Given the description of an element on the screen output the (x, y) to click on. 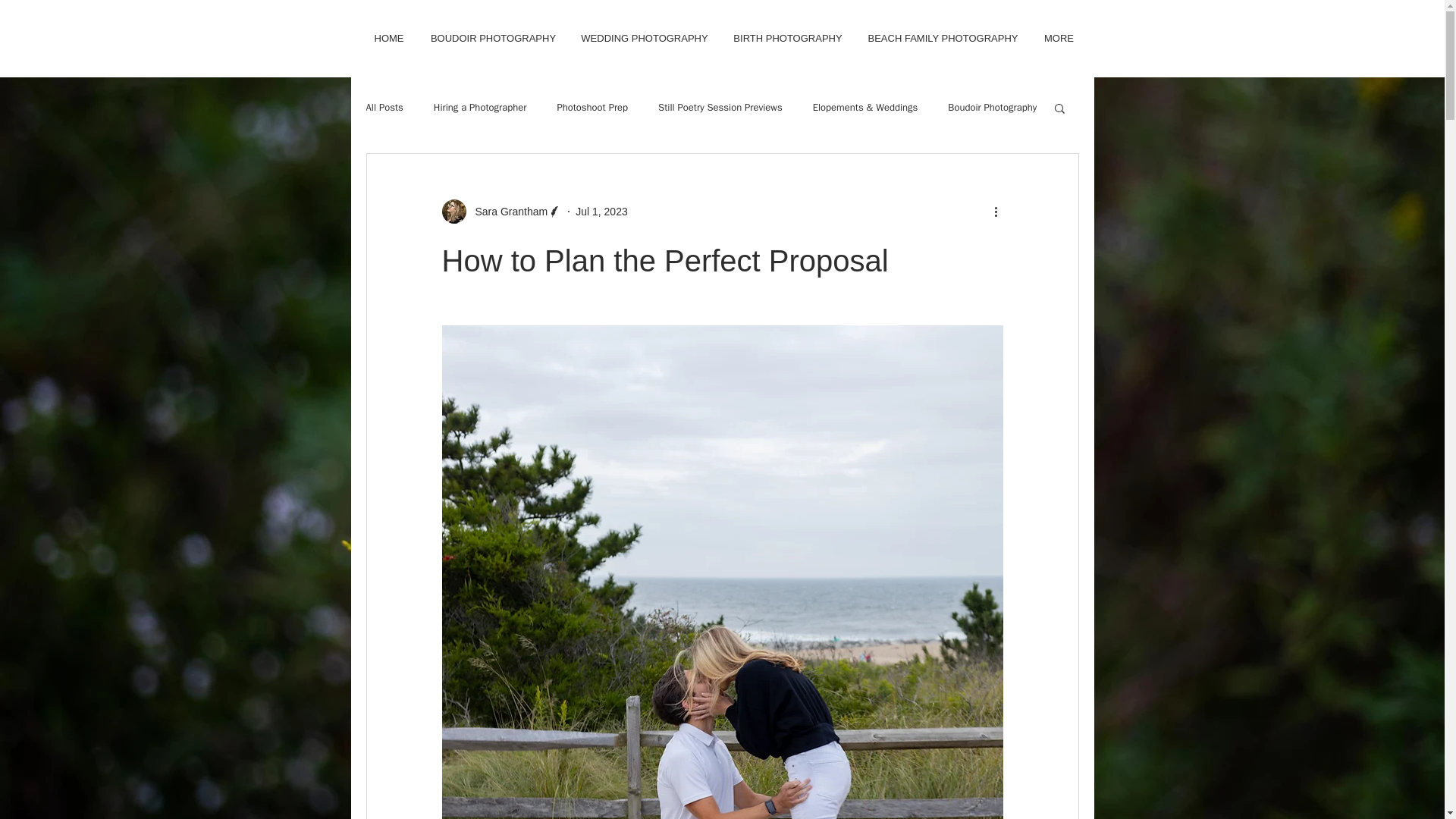
Boudoir Photography (991, 107)
BIRTH PHOTOGRAPHY (788, 38)
Photoshoot Prep (591, 107)
Sara Grantham (501, 211)
Hiring a Photographer (480, 107)
WEDDING PHOTOGRAPHY (644, 38)
Jul 1, 2023 (601, 210)
BOUDOIR PHOTOGRAPHY (493, 38)
All Posts (384, 107)
HOME (389, 38)
